Given the description of an element on the screen output the (x, y) to click on. 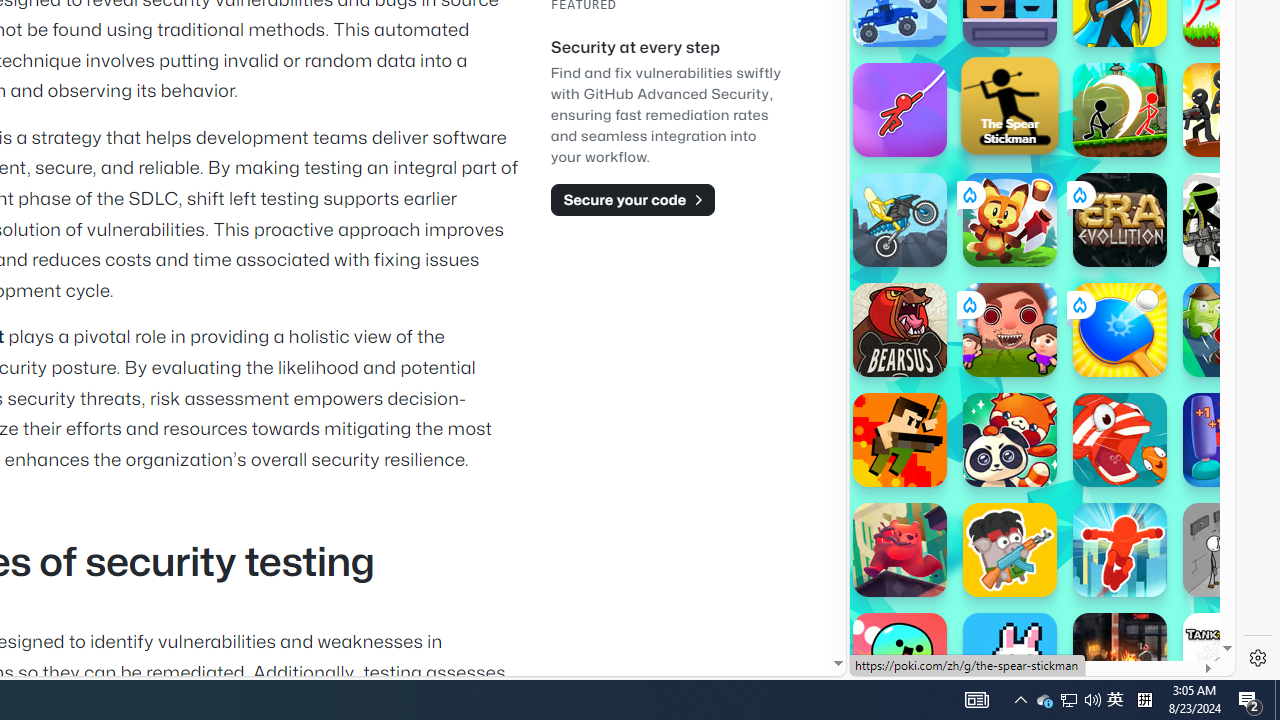
Bearsus Bearsus (899, 329)
Combat Reloaded (1090, 290)
Ping Pong Go! (1119, 329)
Double Panda Double Panda (1009, 439)
Fish Eat Fish Fish Eat Fish (1119, 439)
Fleeing the Complex Fleeing the Complex (1229, 549)
Blumgi Slime (899, 659)
poki.com (1092, 338)
Streets of Anarchy: Fists of War (1119, 659)
